Given the description of an element on the screen output the (x, y) to click on. 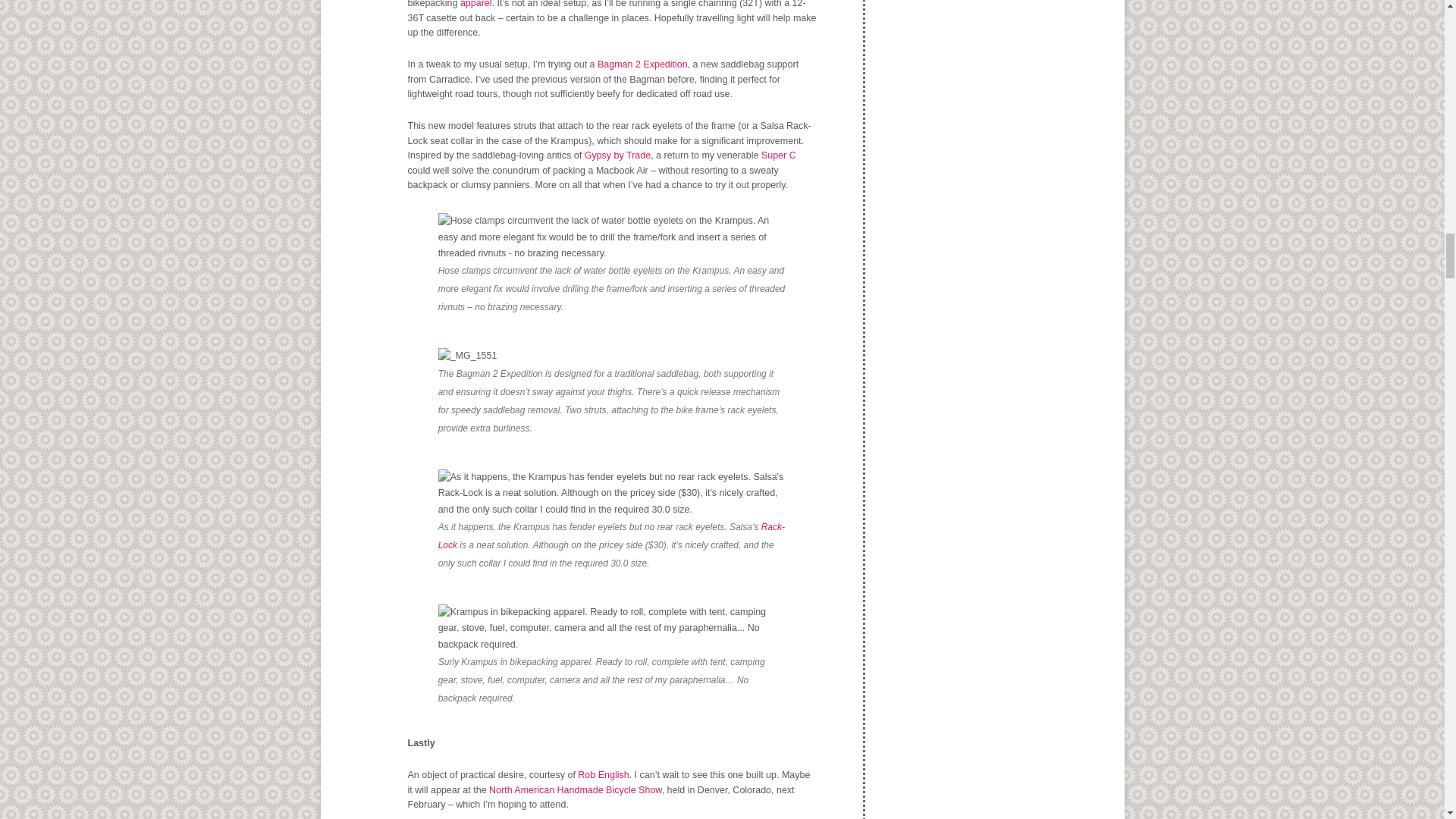
apparel (476, 4)
Bagman 2 Expedition (641, 63)
Super C (778, 154)
Rack-Lock (611, 535)
Gypsy by Trade (617, 154)
Rob English (603, 774)
North American Handmade Bicycle Show (575, 789)
